Given the description of an element on the screen output the (x, y) to click on. 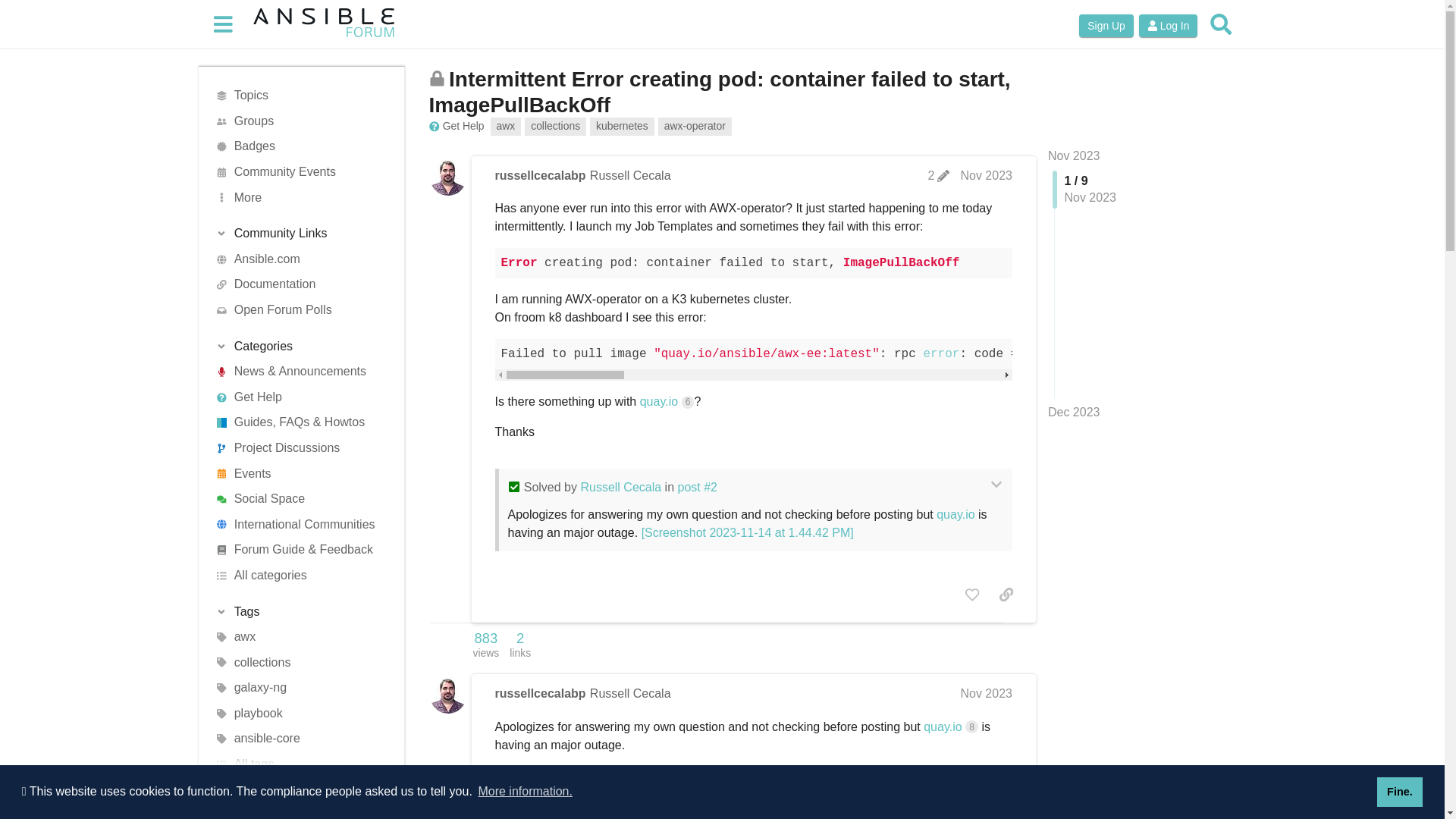
galaxy-ng (295, 688)
Social Space (295, 499)
Events (295, 473)
All topics (295, 95)
All the latest activity in the Ansible Community. (295, 371)
Topics (295, 95)
Fine. (1400, 791)
List of available user groups (295, 121)
